Given the description of an element on the screen output the (x, y) to click on. 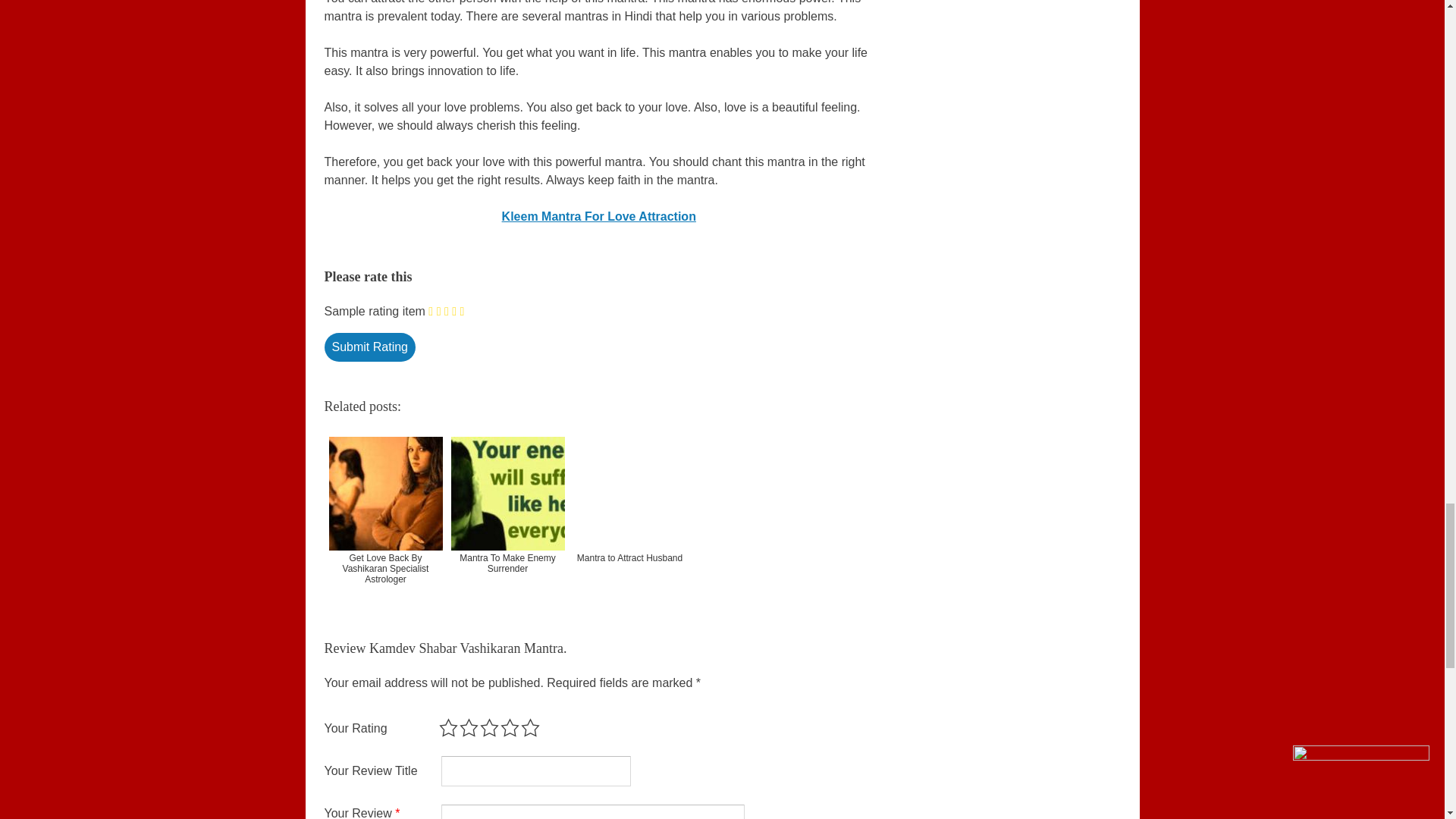
Submit Rating (370, 346)
Kleem Mantra For Love Attraction (598, 215)
Submit Rating (370, 346)
